Given the description of an element on the screen output the (x, y) to click on. 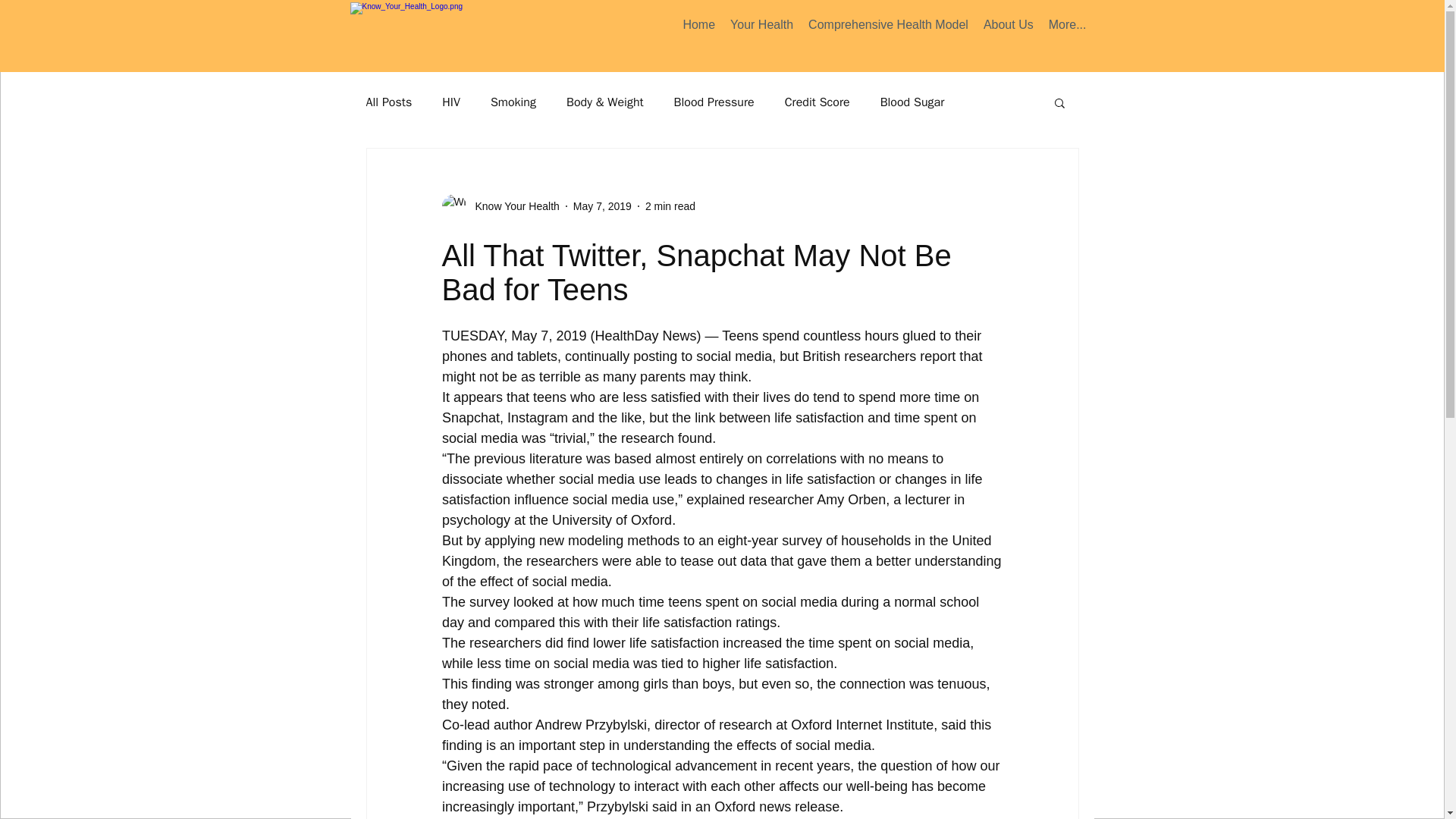
Know Your Health (512, 206)
Your Health (761, 27)
HIV (451, 101)
Blood Pressure (714, 101)
Home (698, 27)
Smoking (512, 101)
Credit Score (817, 101)
Blood Sugar (912, 101)
2 min read (670, 205)
All Posts (388, 101)
Comprehensive Health Model (887, 27)
May 7, 2019 (602, 205)
About Us (1008, 27)
